Given the description of an element on the screen output the (x, y) to click on. 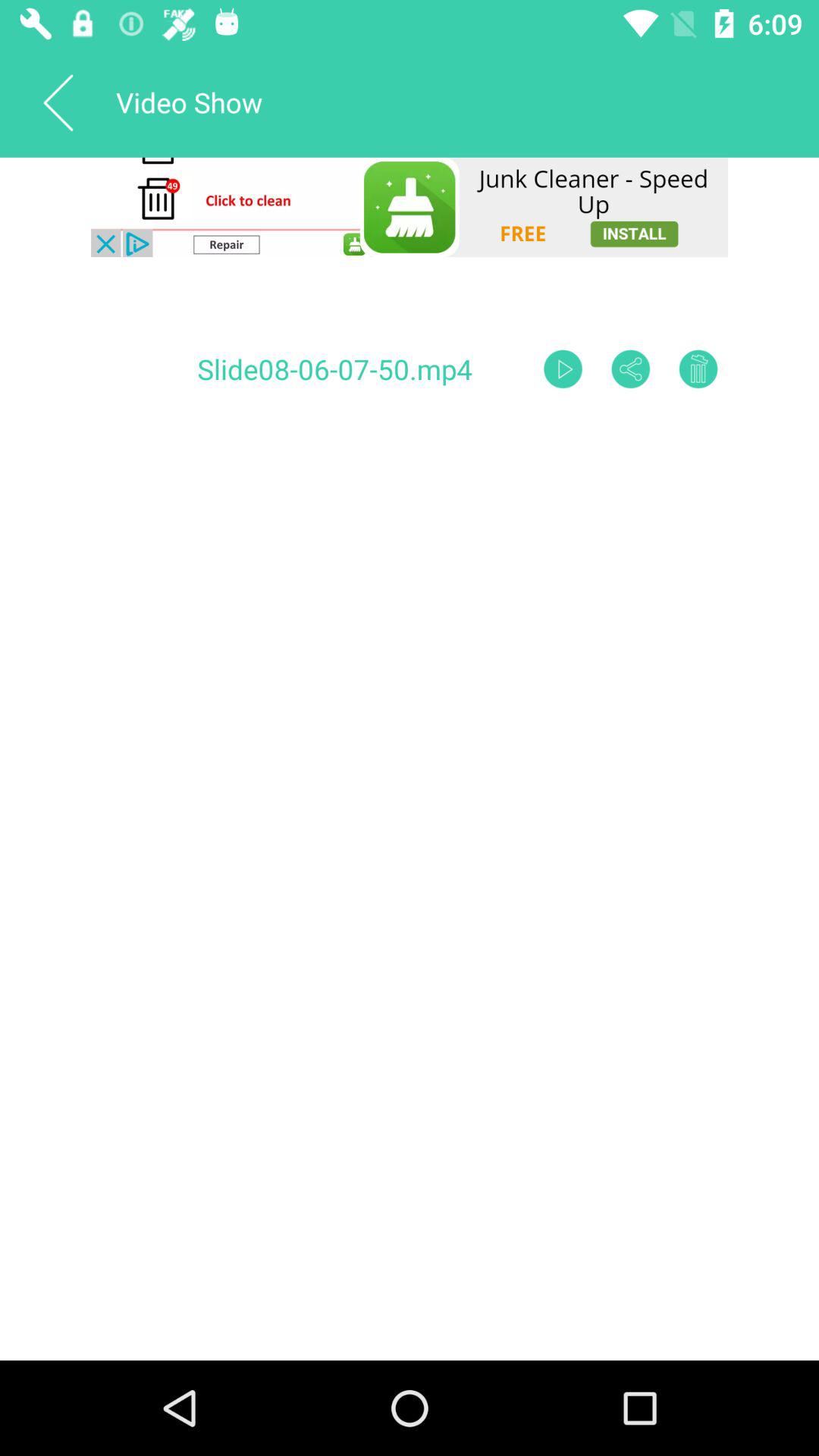
share option (630, 369)
